Given the description of an element on the screen output the (x, y) to click on. 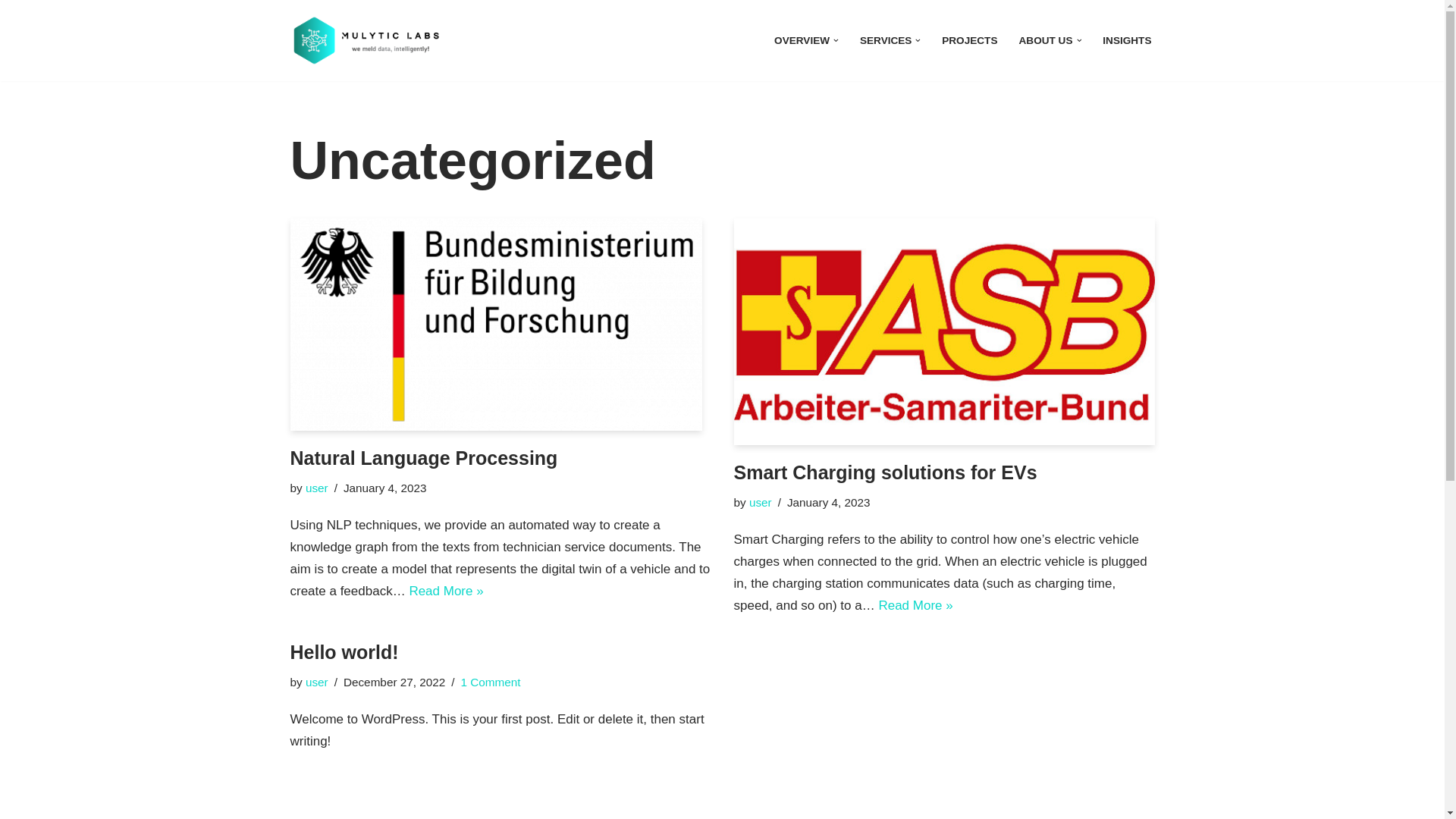
Posts by user (317, 681)
INSIGHTS (1126, 40)
SERVICES (886, 40)
OVERVIEW (801, 40)
ABOUT US (1046, 40)
Posts by user (760, 502)
Natural Language Processing (499, 324)
user (317, 487)
Smart Charging solutions for EVs (943, 331)
Natural Language Processing (423, 457)
